Given the description of an element on the screen output the (x, y) to click on. 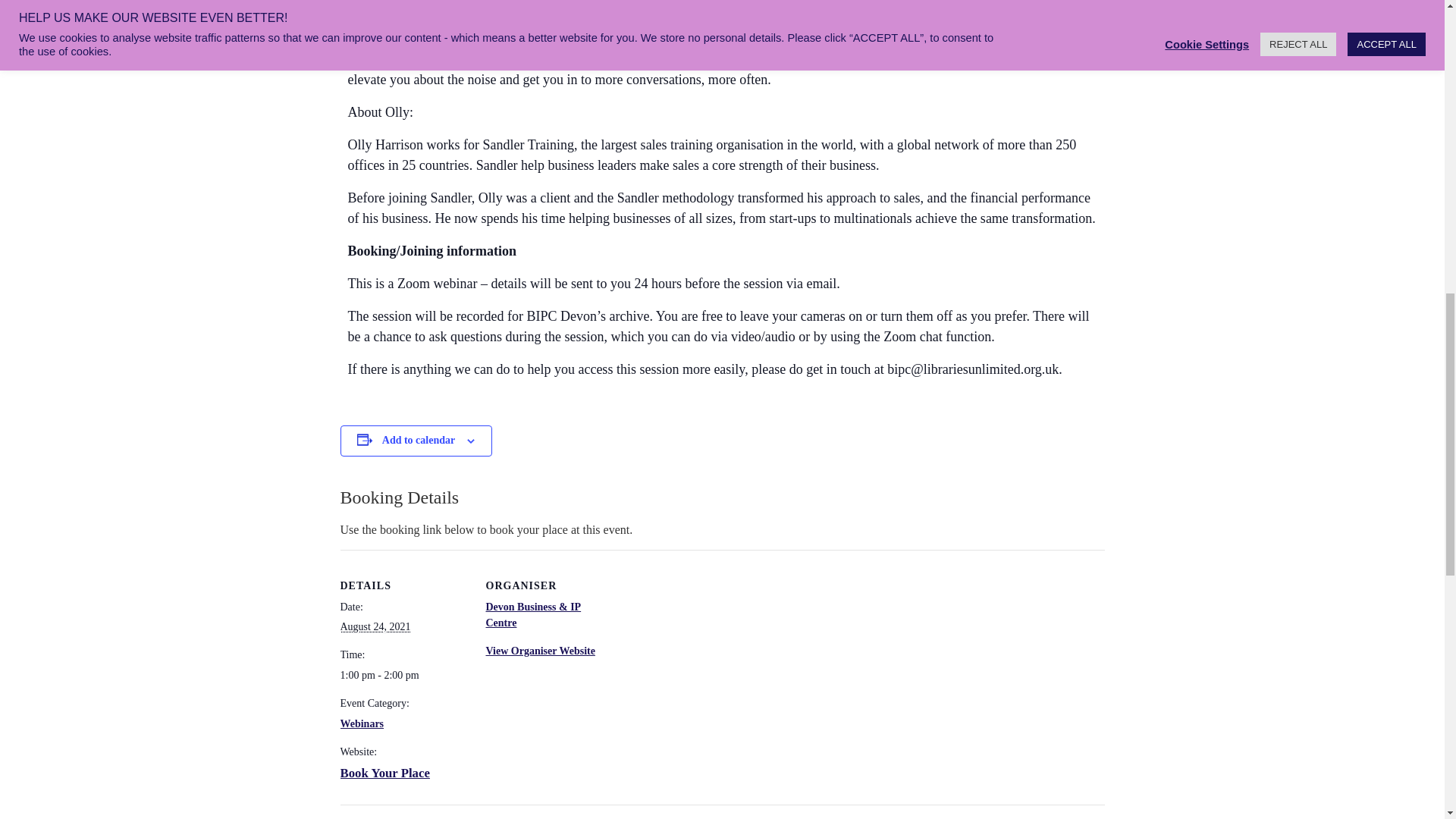
2021-08-24 (374, 626)
2021-08-24 (403, 675)
